Given the description of an element on the screen output the (x, y) to click on. 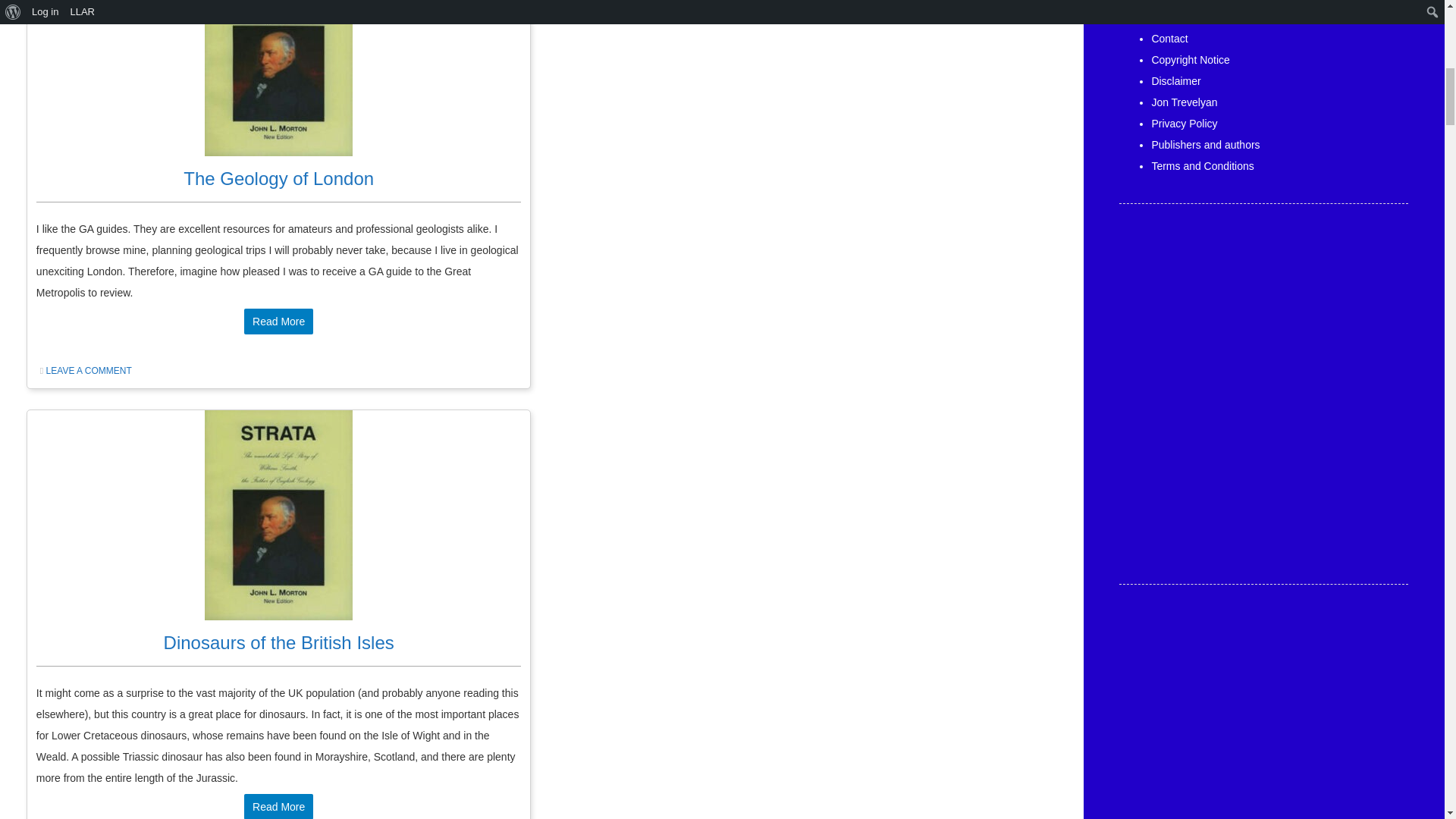
Permalink to The Geology of London (278, 178)
Permalink to Dinosaurs of the British Isles (278, 642)
